Given the description of an element on the screen output the (x, y) to click on. 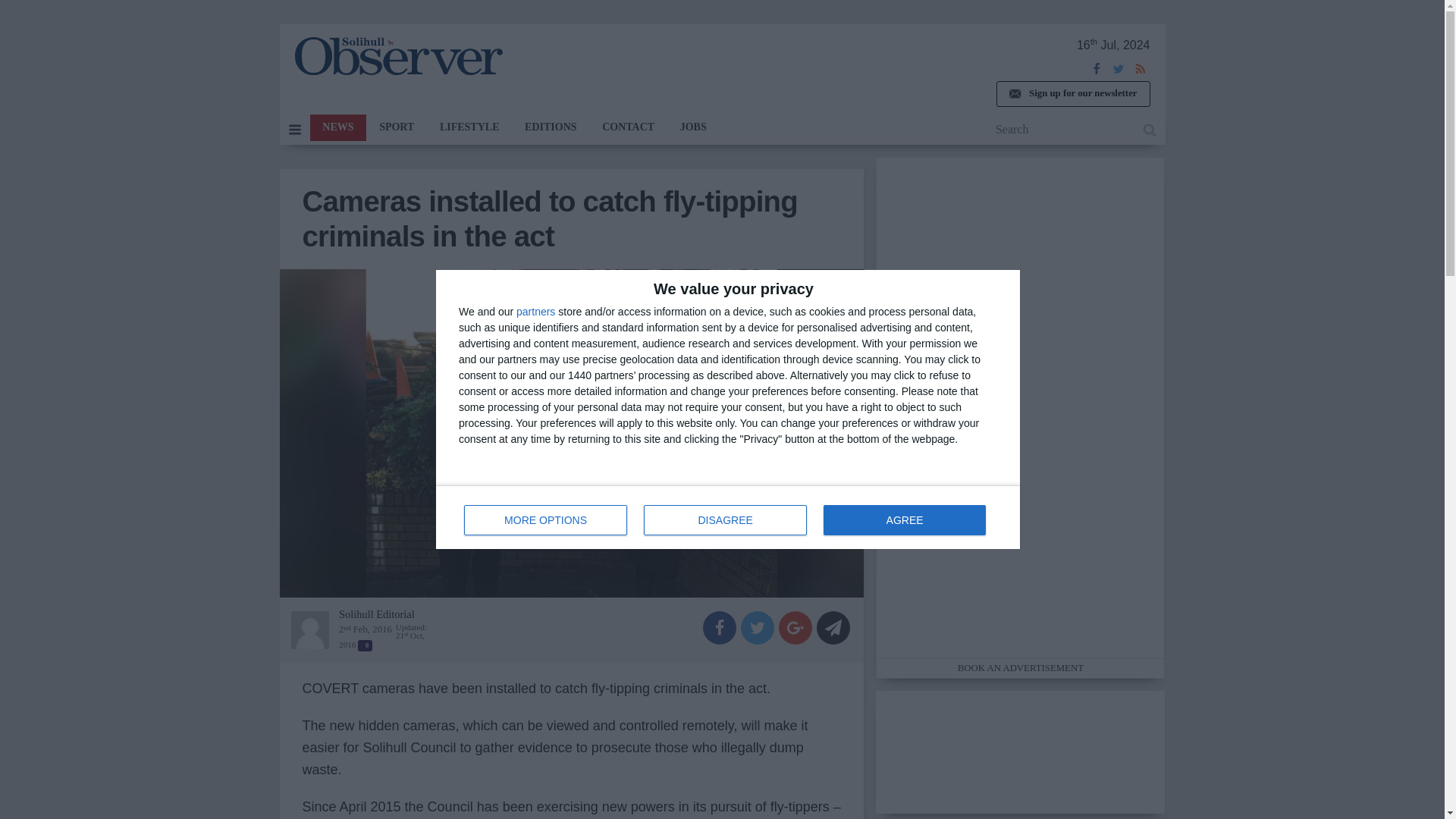
EDITIONS (550, 127)
  Sign up for our newsletter (1072, 94)
DISAGREE (724, 520)
AGREE (904, 520)
partners (535, 311)
MORE OPTIONS (545, 520)
NEWS (337, 127)
LIFESTYLE (469, 127)
The Solihull Observer (398, 55)
SPORT (727, 516)
